Given the description of an element on the screen output the (x, y) to click on. 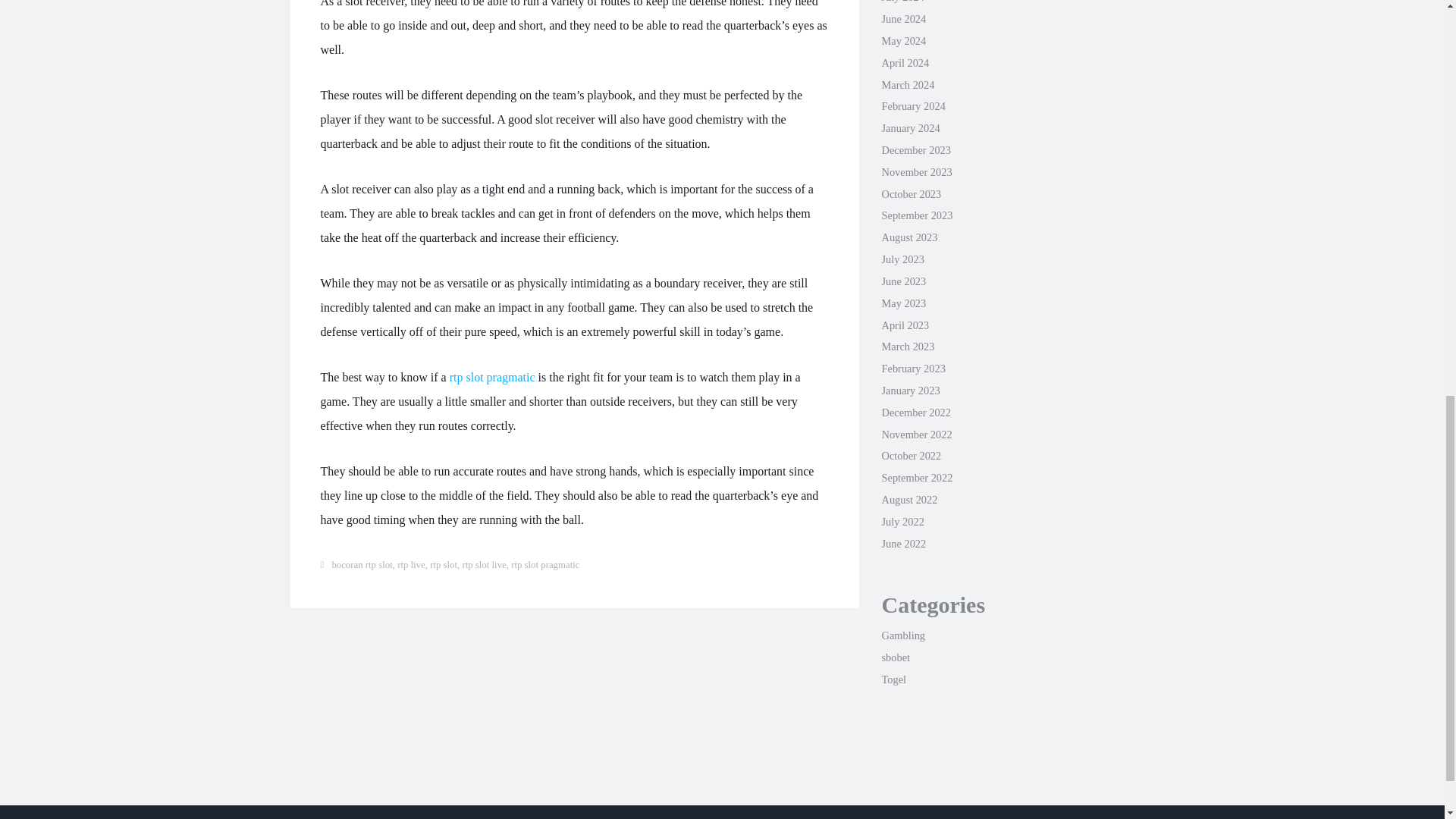
June 2023 (903, 281)
May 2023 (903, 303)
July 2023 (901, 259)
rtp live (411, 564)
January 2024 (909, 128)
June 2024 (903, 19)
March 2024 (907, 84)
rtp slot pragmatic (492, 377)
February 2024 (912, 105)
November 2023 (916, 172)
